Given the description of an element on the screen output the (x, y) to click on. 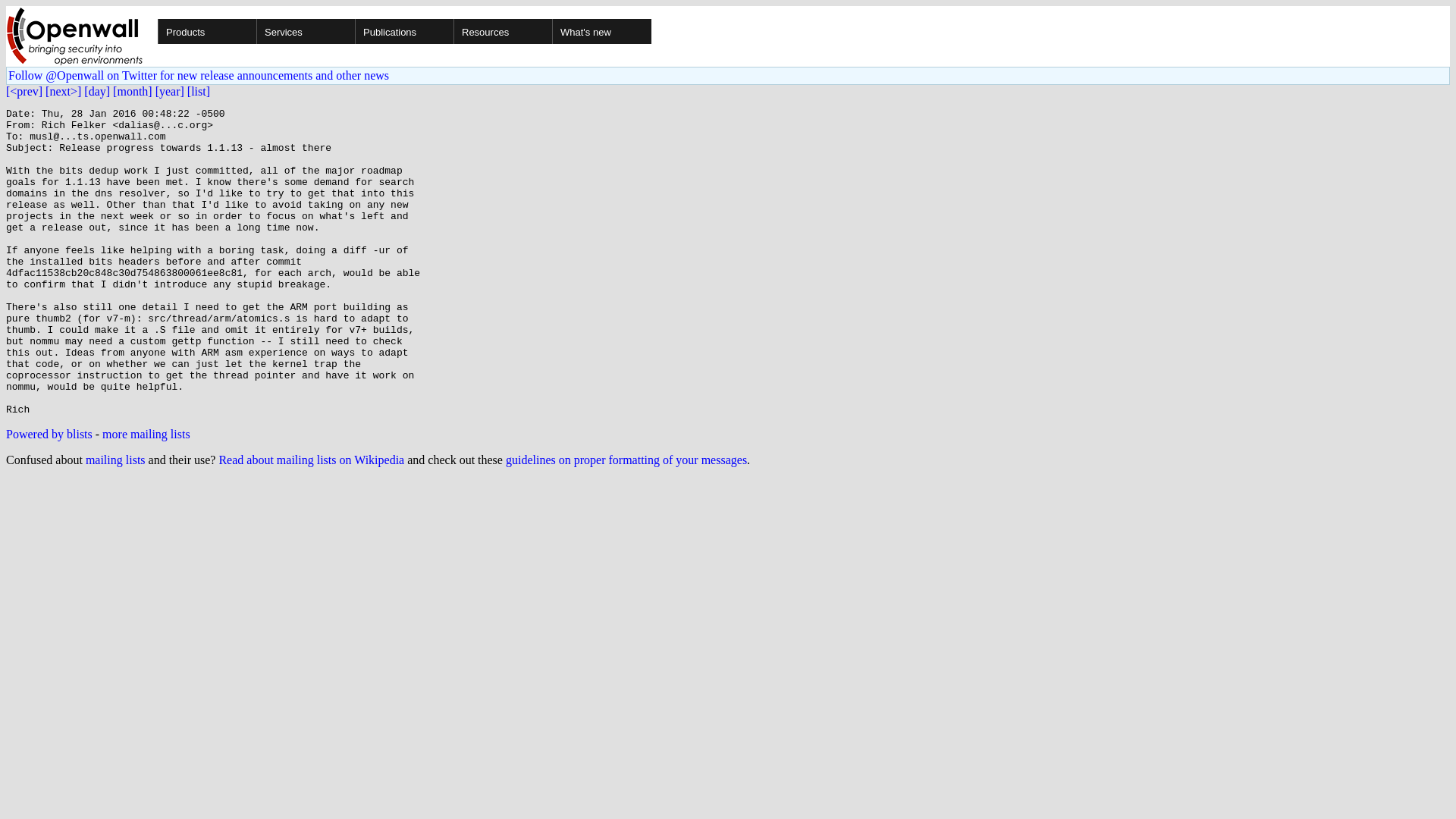
Resources (549, 31)
Services (352, 31)
Products (254, 31)
Publications (451, 31)
What's new (600, 31)
